Given the description of an element on the screen output the (x, y) to click on. 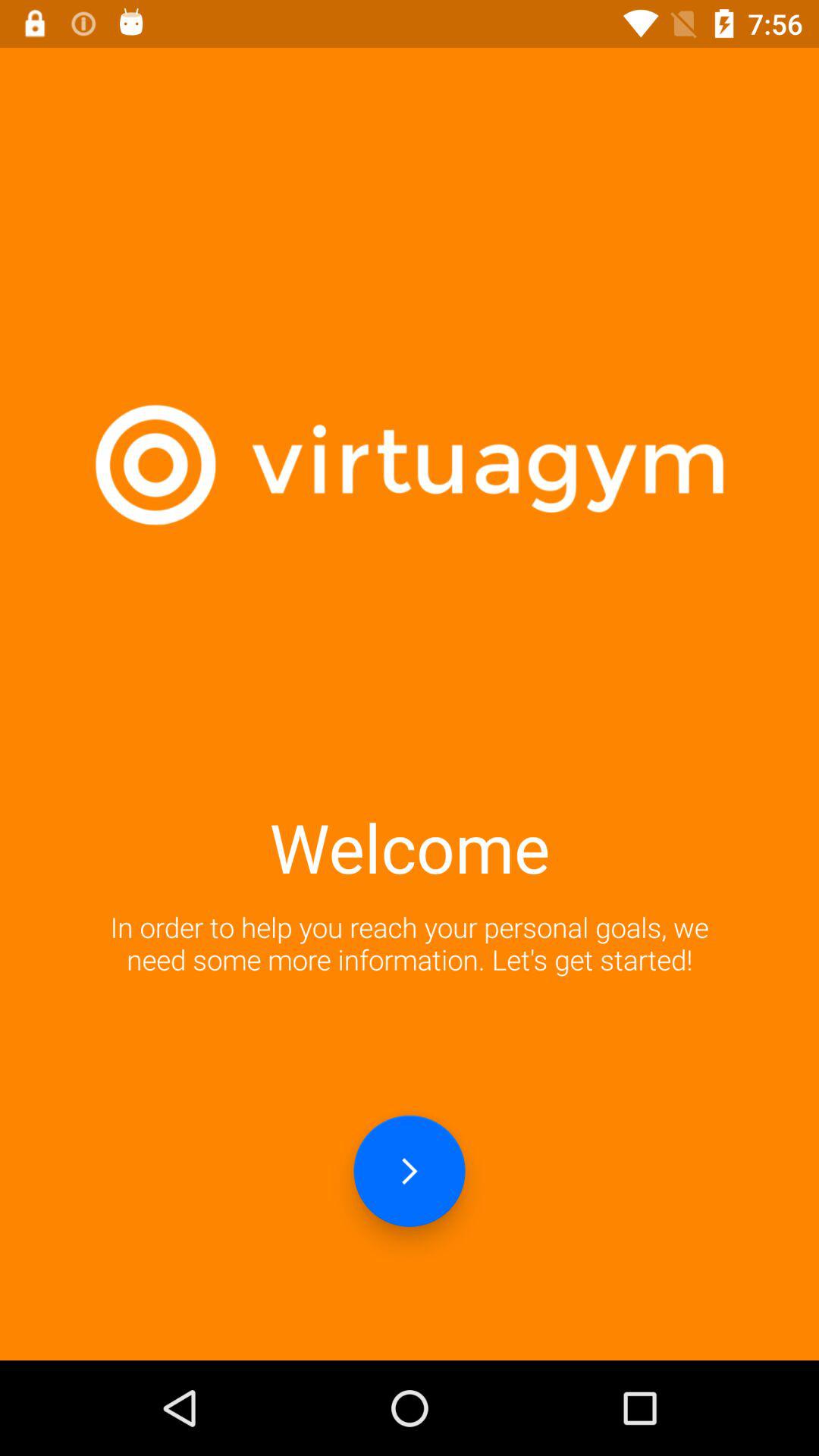
continue (409, 1170)
